Given the description of an element on the screen output the (x, y) to click on. 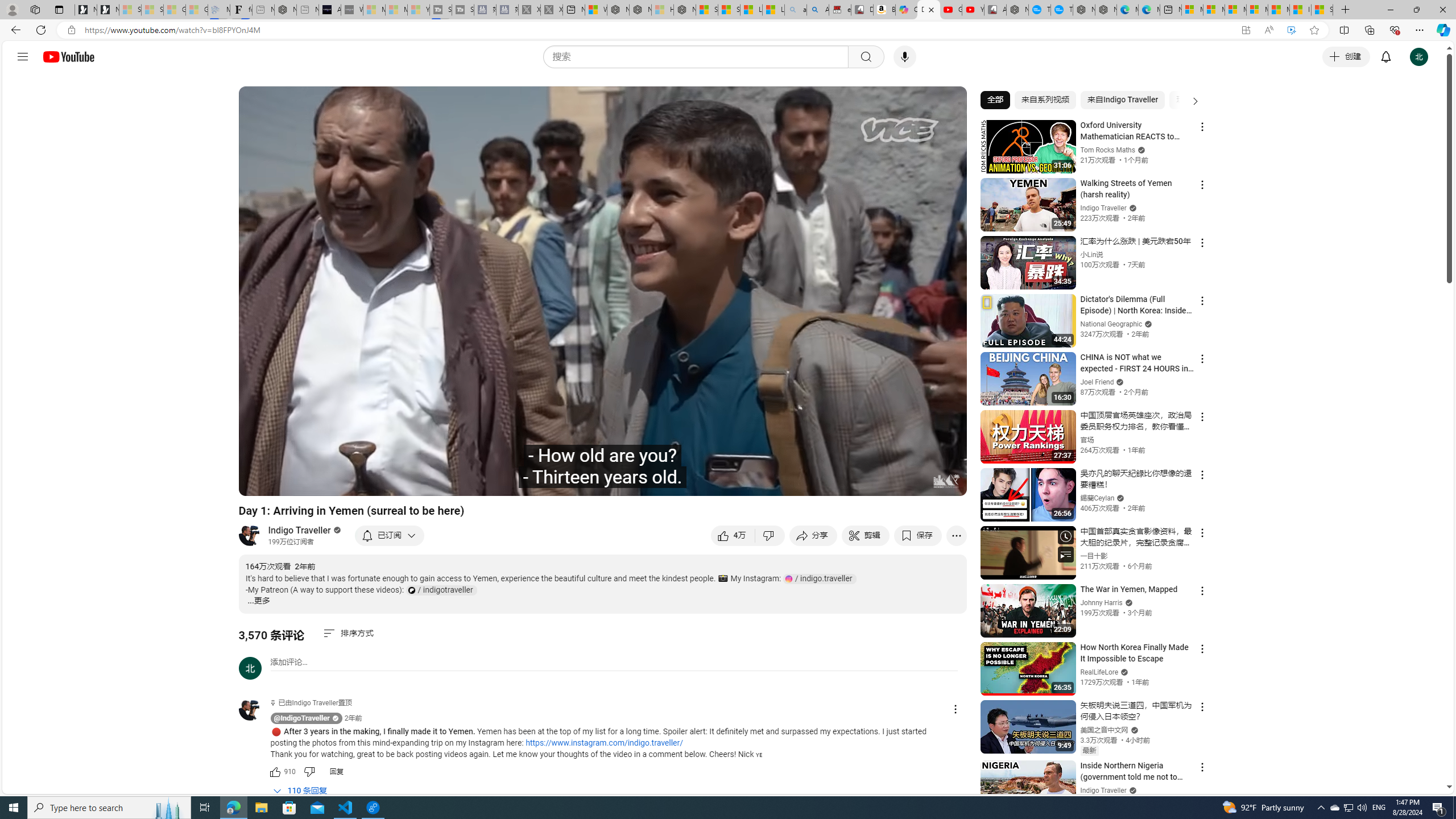
What's the best AI voice generator? - voice.ai - Sleeping (352, 9)
Nordace - Nordace has arrived Hong Kong (1105, 9)
AutomationID: simplebox-placeholder (288, 662)
Enhance video (1291, 29)
